Given the description of an element on the screen output the (x, y) to click on. 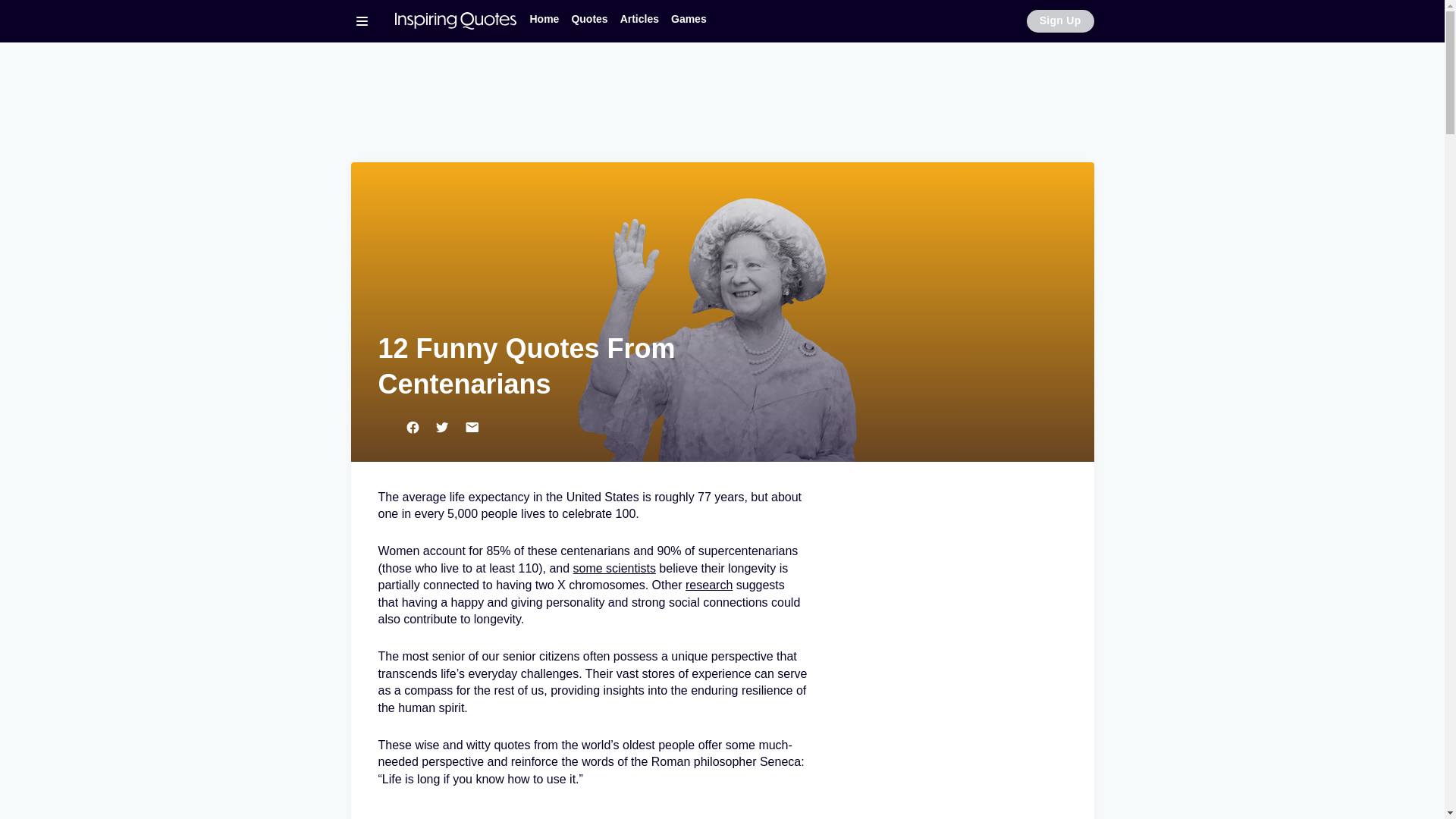
some scientists (614, 567)
Articles (639, 19)
Sign Up (1060, 20)
research (708, 584)
Games (689, 19)
Home (543, 19)
Quotes (588, 19)
